Given the description of an element on the screen output the (x, y) to click on. 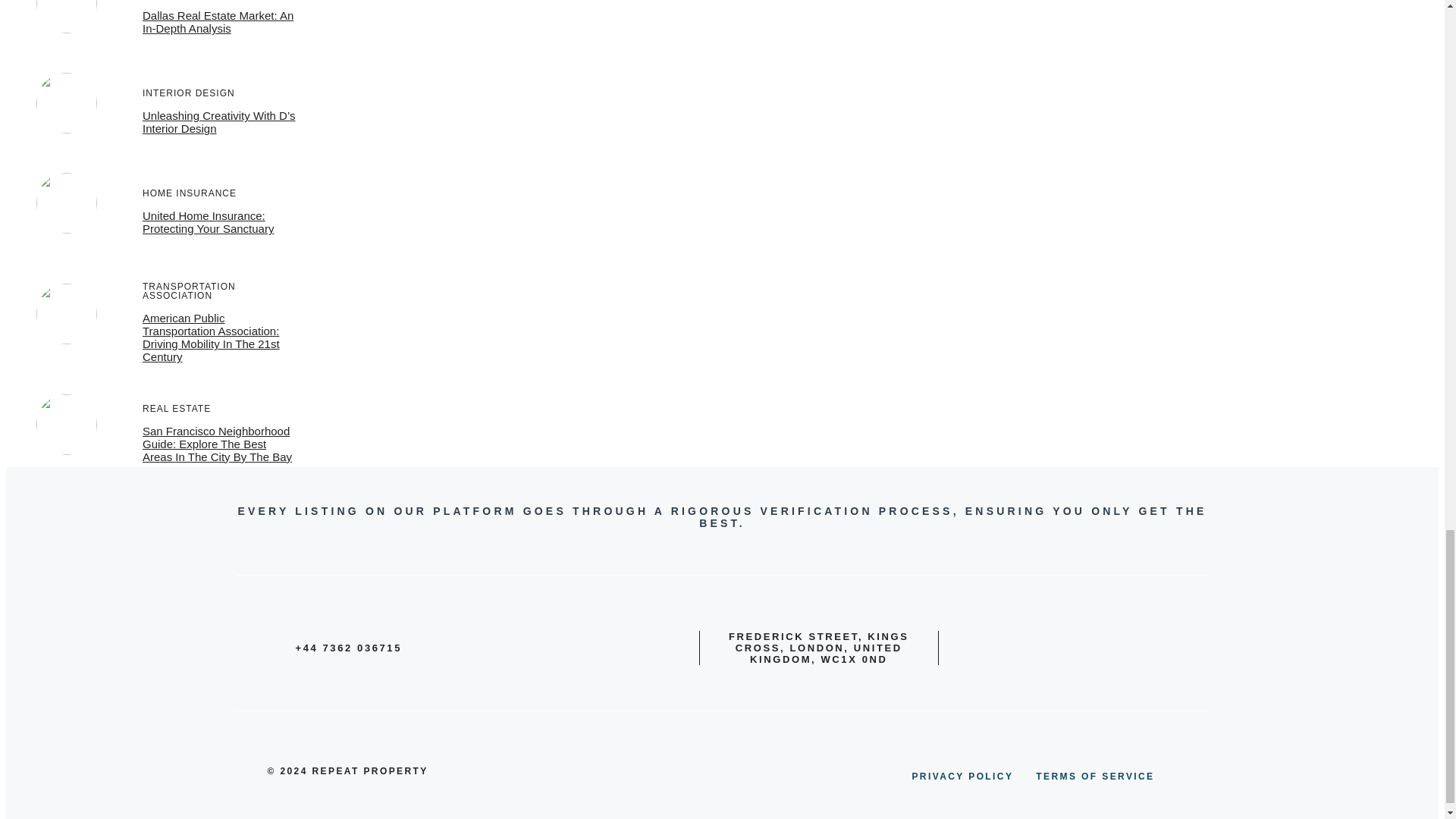
PRIVACY POLICY (962, 776)
Dallas Real Estate Market: An In-Depth Analysis (218, 22)
TERMS OF SERVICE (1094, 776)
United Home Insurance: Protecting Your Sanctuary (207, 222)
